Given the description of an element on the screen output the (x, y) to click on. 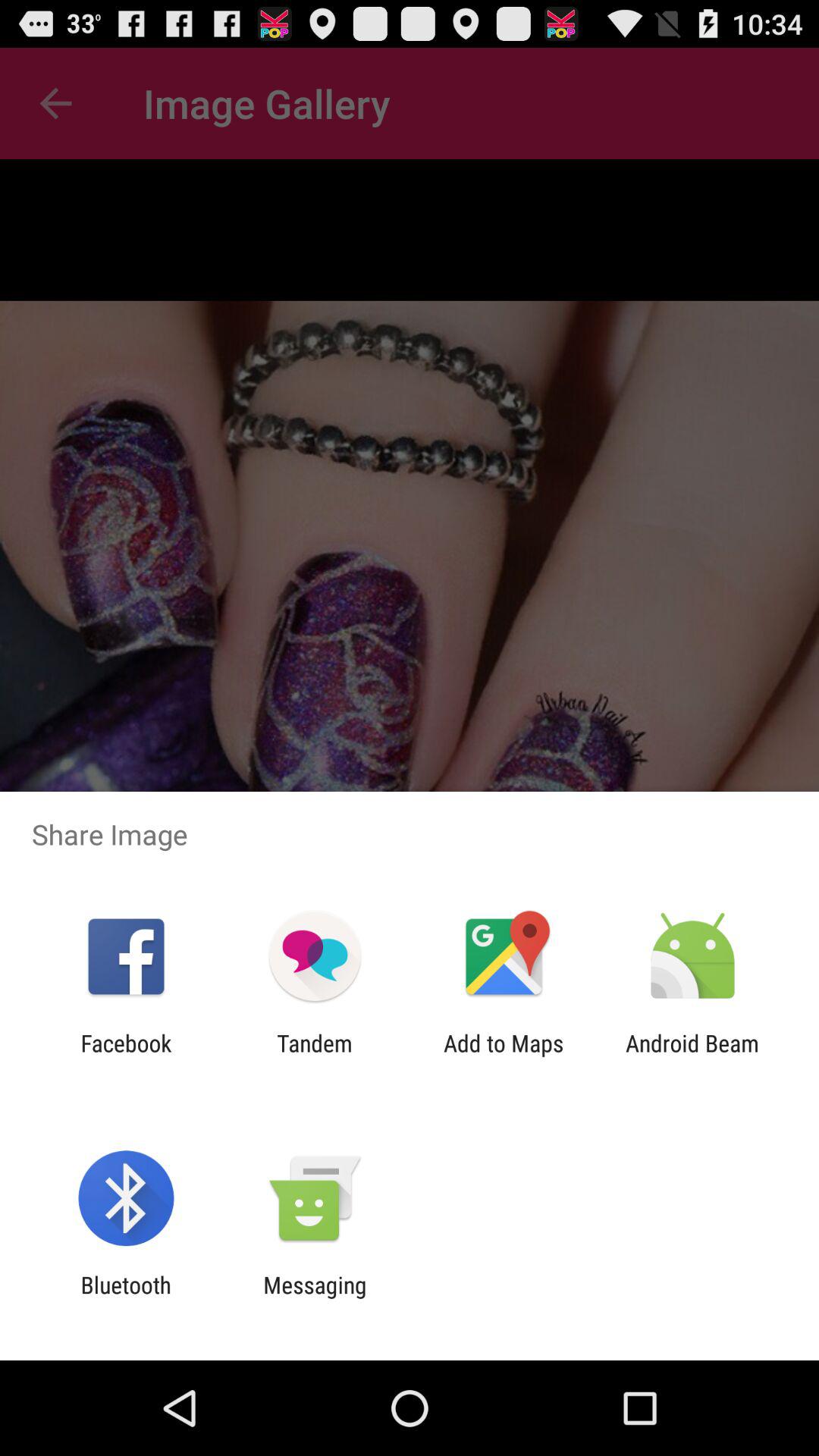
select app to the left of the android beam app (503, 1056)
